Given the description of an element on the screen output the (x, y) to click on. 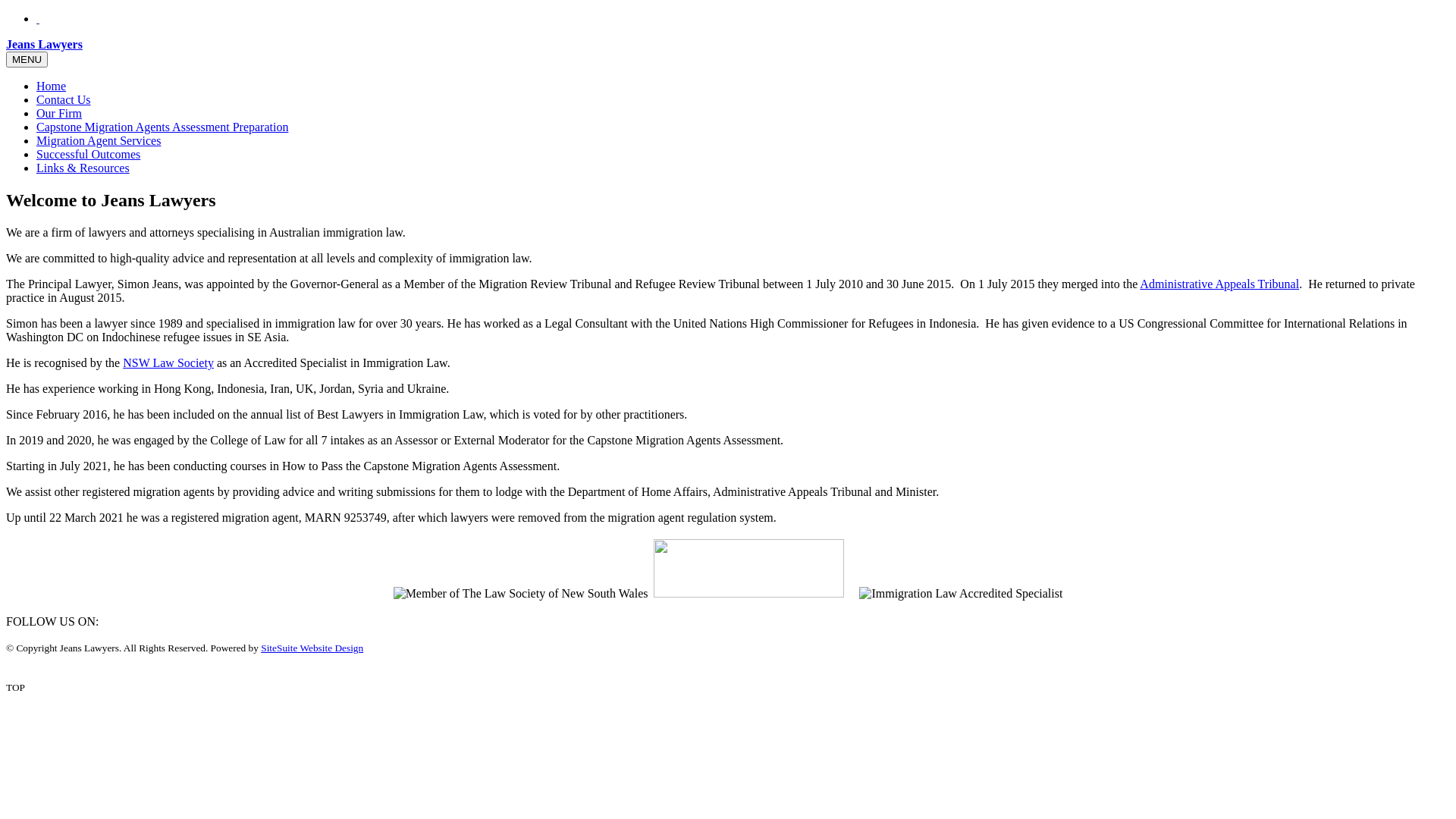
Links & Resources Element type: text (82, 167)
Jeans Lawyers Element type: text (44, 43)
Home Element type: text (50, 85)
Administrative Appeals Tribunal Element type: text (1219, 283)
Capstone Migration Agents Assessment Preparation Element type: text (162, 126)
Successful Outcomes Element type: text (88, 153)
SiteSuite Website Design Element type: text (311, 647)
Our Firm Element type: text (58, 112)
  Element type: text (37, 18)
Call Us Now Element type: hover (37, 18)
NSW Law Society Element type: text (167, 362)
MENU Element type: text (26, 59)
Contact Us Element type: text (63, 99)
Migration Agent Services Element type: text (98, 140)
